Given the description of an element on the screen output the (x, y) to click on. 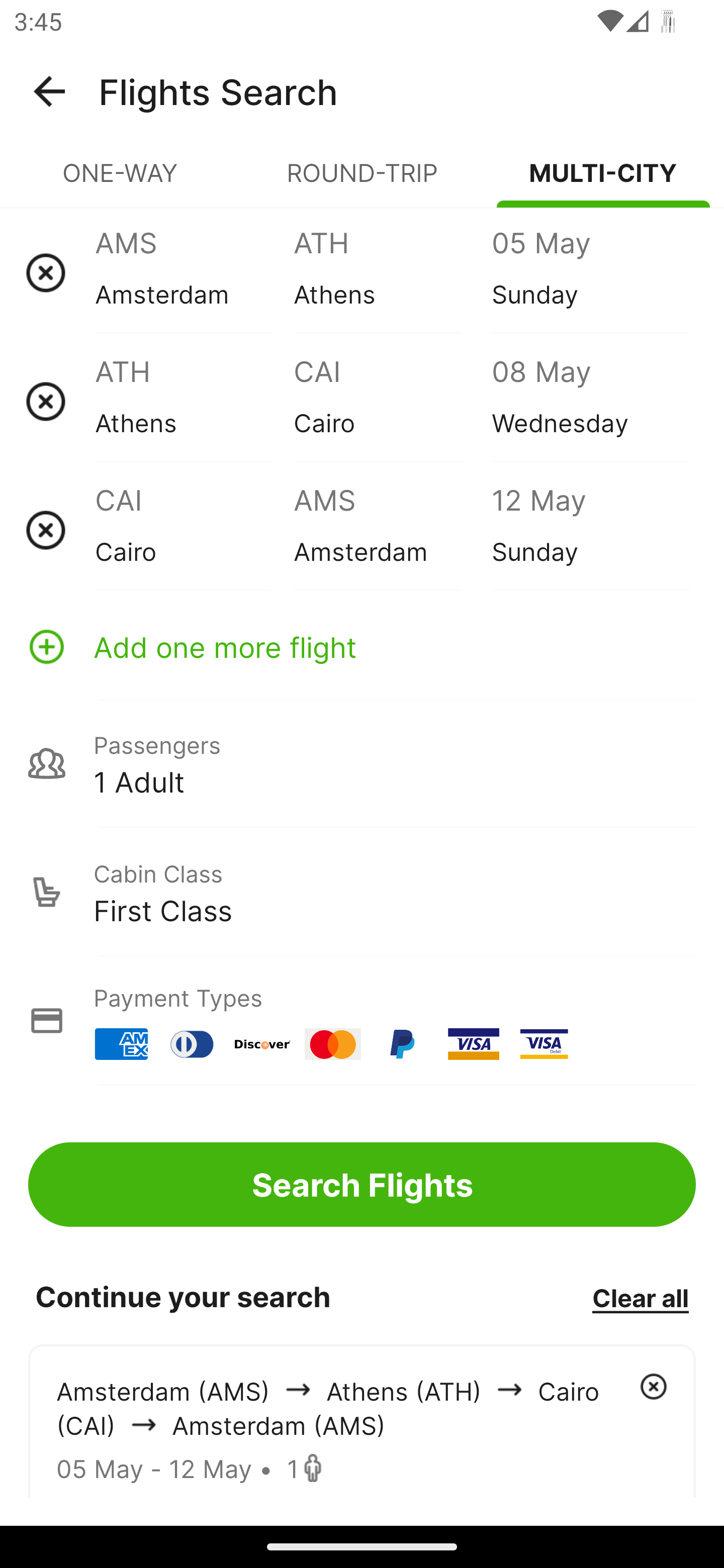
ONE-WAY (120, 180)
ROUND-TRIP (361, 180)
MULTI-CITY (603, 180)
AMS Amsterdam (193, 272)
ATH Athens (392, 272)
05 May Sunday (590, 272)
ATH Athens (193, 401)
CAI Cairo (392, 401)
08 May Wednesday (590, 401)
CAI Cairo (193, 529)
AMS Amsterdam (392, 529)
12 May Sunday (590, 529)
Add one more flight (362, 646)
Passengers 1 Adult (362, 762)
Cabin Class First Class (362, 891)
Payment Types (362, 1020)
Search Flights (361, 1184)
Clear all (640, 1297)
